Given the description of an element on the screen output the (x, y) to click on. 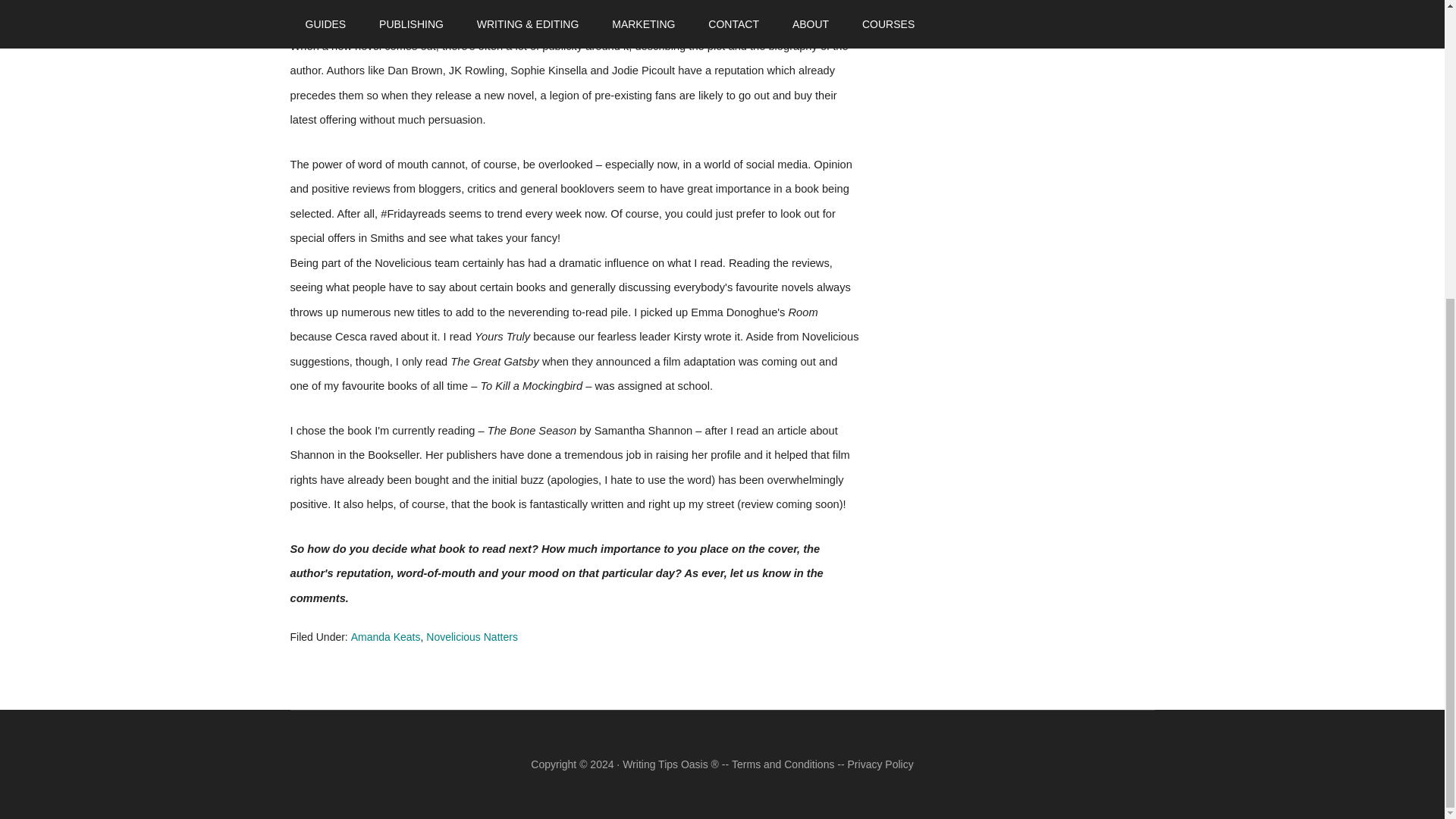
Amanda Keats (385, 636)
Novelicious Natters (472, 636)
Privacy Policy (880, 764)
Terms and Conditions (783, 764)
